Given the description of an element on the screen output the (x, y) to click on. 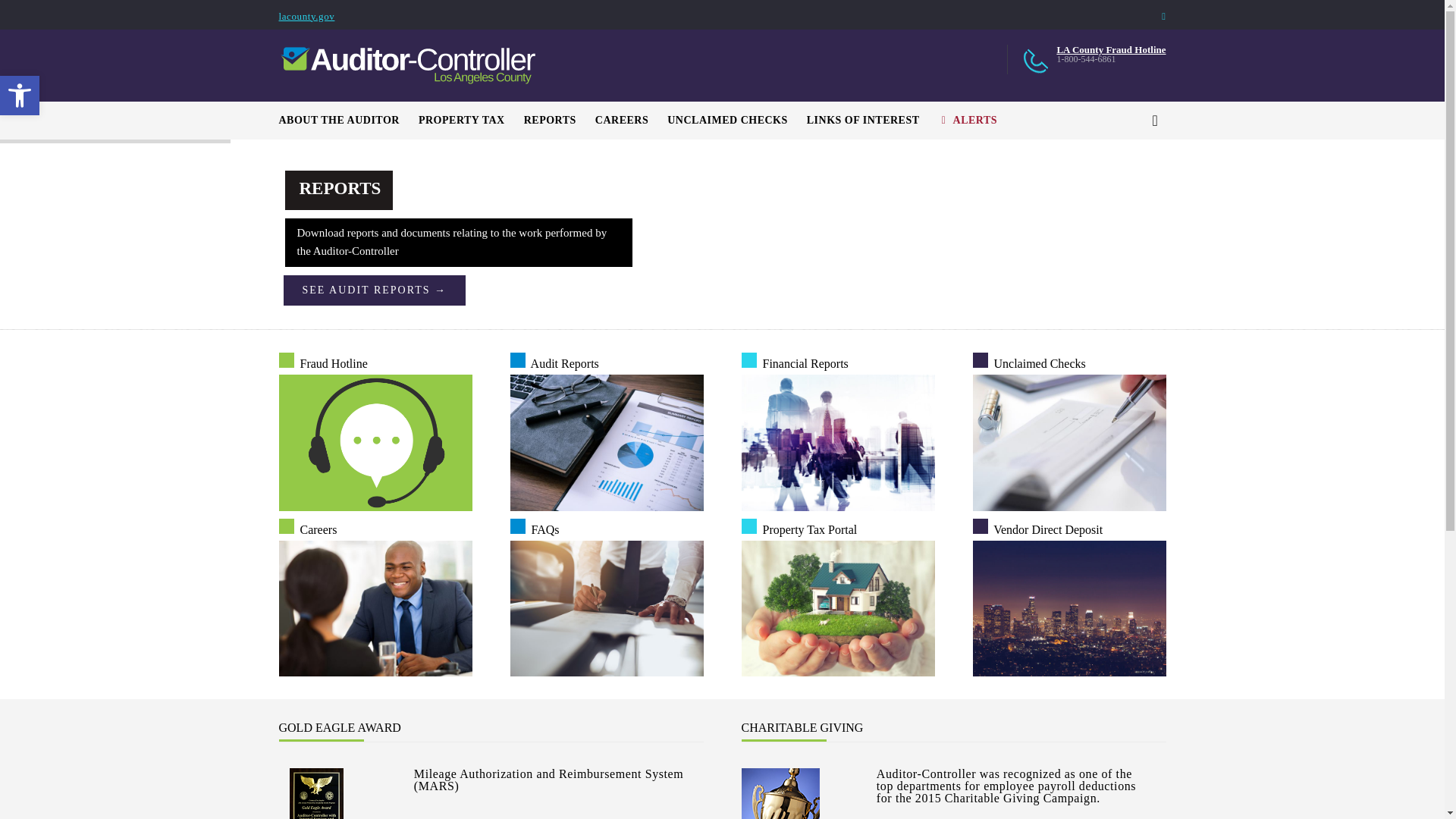
PROPERTY TAX (19, 95)
lacounty.gov (471, 120)
Accessibility Tools (306, 16)
ABOUT THE AUDITOR (19, 95)
Accessibility Tools (349, 120)
REPORTS (19, 95)
LA County Fraud Hotline (559, 120)
